Given the description of an element on the screen output the (x, y) to click on. 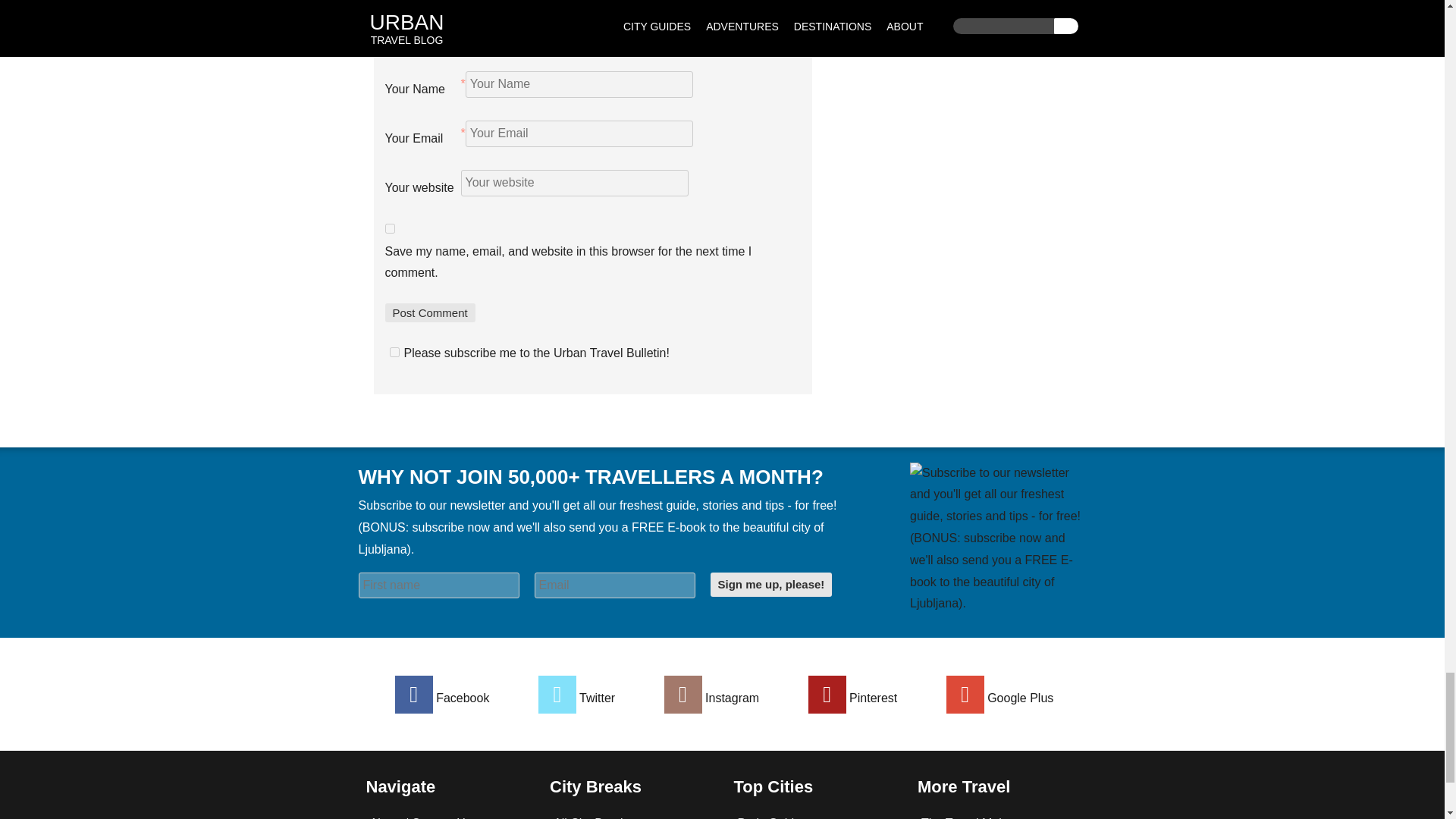
1 (394, 352)
Post Comment (430, 312)
yes (389, 228)
Sign me up, please! (770, 584)
